Given the description of an element on the screen output the (x, y) to click on. 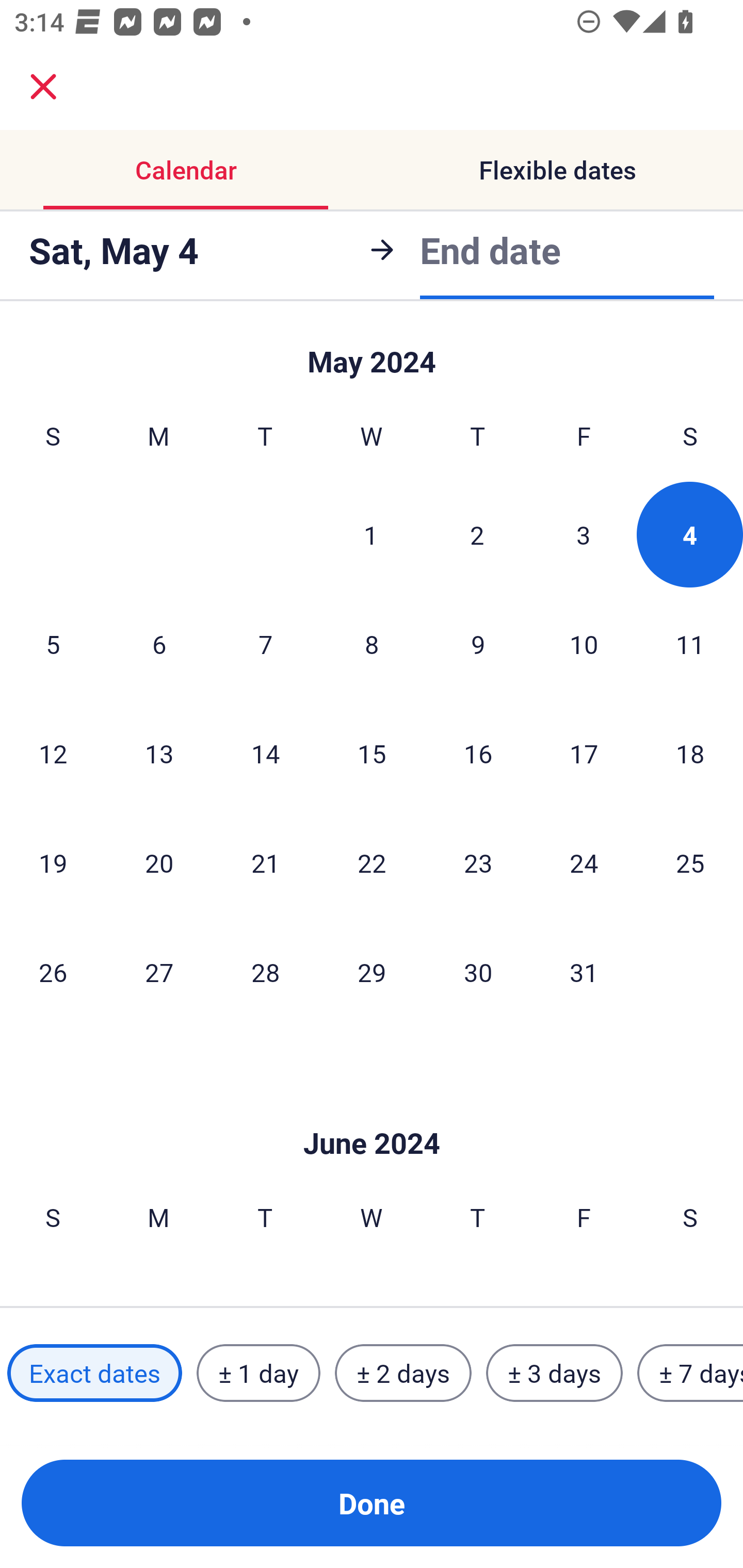
close. (43, 86)
Flexible dates (557, 170)
End date (489, 247)
Skip to Done (371, 352)
1 Wednesday, May 1, 2024 (371, 534)
2 Thursday, May 2, 2024 (477, 534)
3 Friday, May 3, 2024 (583, 534)
5 Sunday, May 5, 2024 (53, 643)
6 Monday, May 6, 2024 (159, 643)
7 Tuesday, May 7, 2024 (265, 643)
8 Wednesday, May 8, 2024 (371, 643)
9 Thursday, May 9, 2024 (477, 643)
10 Friday, May 10, 2024 (584, 643)
11 Saturday, May 11, 2024 (690, 643)
12 Sunday, May 12, 2024 (53, 752)
13 Monday, May 13, 2024 (159, 752)
14 Tuesday, May 14, 2024 (265, 752)
15 Wednesday, May 15, 2024 (371, 752)
16 Thursday, May 16, 2024 (477, 752)
17 Friday, May 17, 2024 (584, 752)
18 Saturday, May 18, 2024 (690, 752)
19 Sunday, May 19, 2024 (53, 862)
20 Monday, May 20, 2024 (159, 862)
21 Tuesday, May 21, 2024 (265, 862)
22 Wednesday, May 22, 2024 (371, 862)
23 Thursday, May 23, 2024 (477, 862)
24 Friday, May 24, 2024 (584, 862)
25 Saturday, May 25, 2024 (690, 862)
26 Sunday, May 26, 2024 (53, 971)
27 Monday, May 27, 2024 (159, 971)
28 Tuesday, May 28, 2024 (265, 971)
29 Wednesday, May 29, 2024 (371, 971)
30 Thursday, May 30, 2024 (477, 971)
31 Friday, May 31, 2024 (584, 971)
Skip to Done (371, 1112)
Exact dates (94, 1372)
± 1 day (258, 1372)
± 2 days (403, 1372)
± 3 days (553, 1372)
± 7 days (690, 1372)
Done (371, 1502)
